Given the description of an element on the screen output the (x, y) to click on. 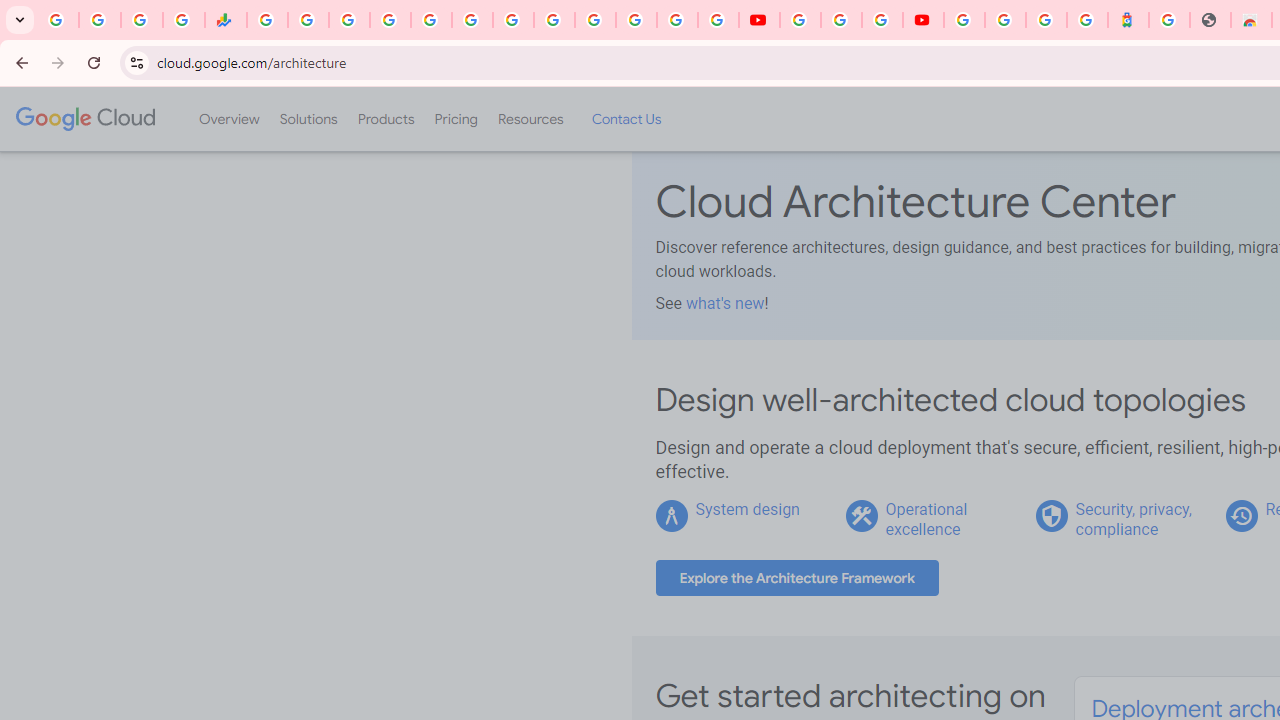
YouTube (553, 20)
Google Workspace Admin Community (58, 20)
Sign in - Google Accounts (389, 20)
what's new (724, 303)
YouTube (799, 20)
Atour Hotel - Google hotels (1128, 20)
Sign in - Google Accounts (1005, 20)
Solutions (308, 119)
Explore the Architecture Framework (797, 578)
